Given the description of an element on the screen output the (x, y) to click on. 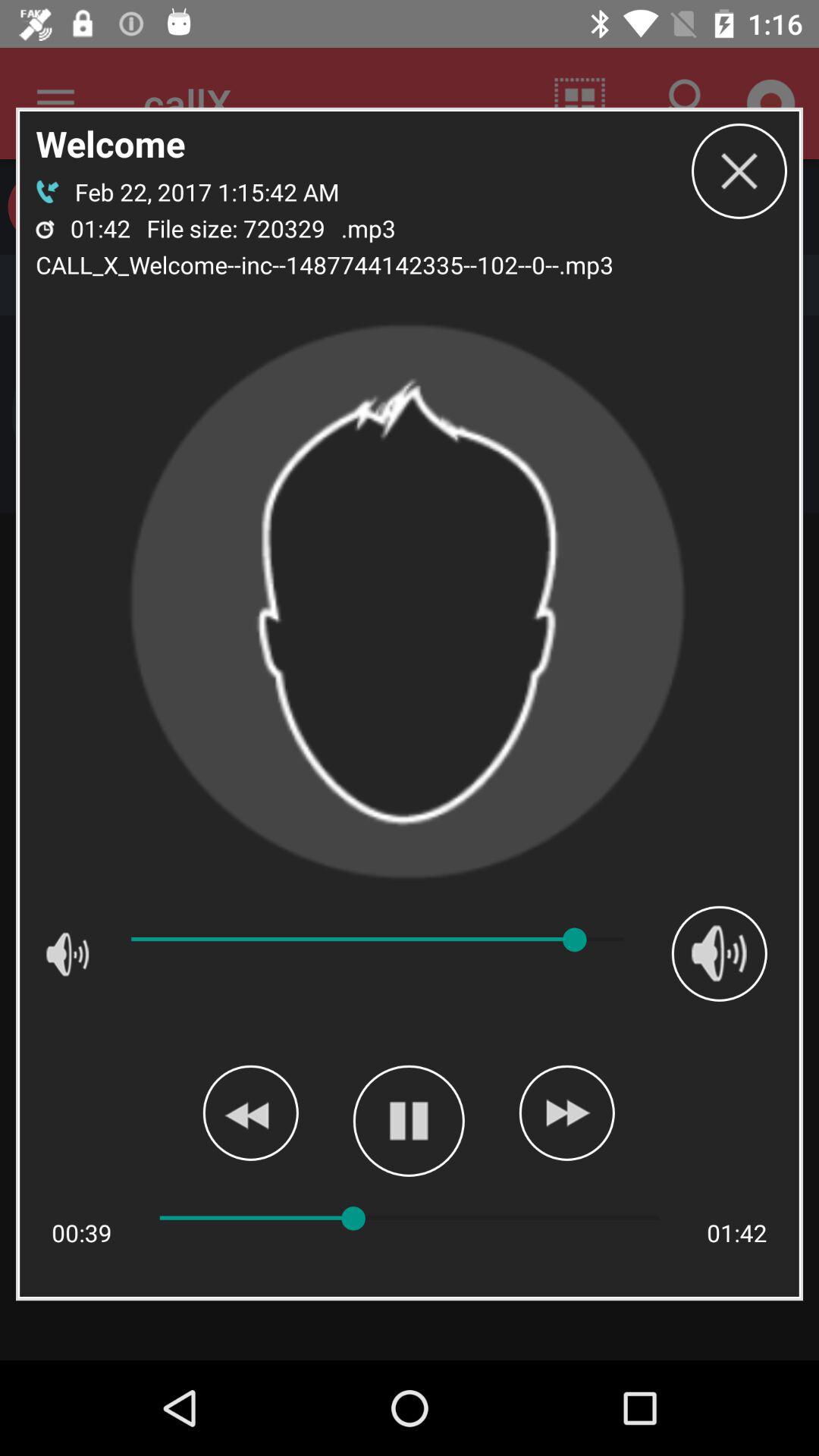
press the icon on the right (719, 953)
